Given the description of an element on the screen output the (x, y) to click on. 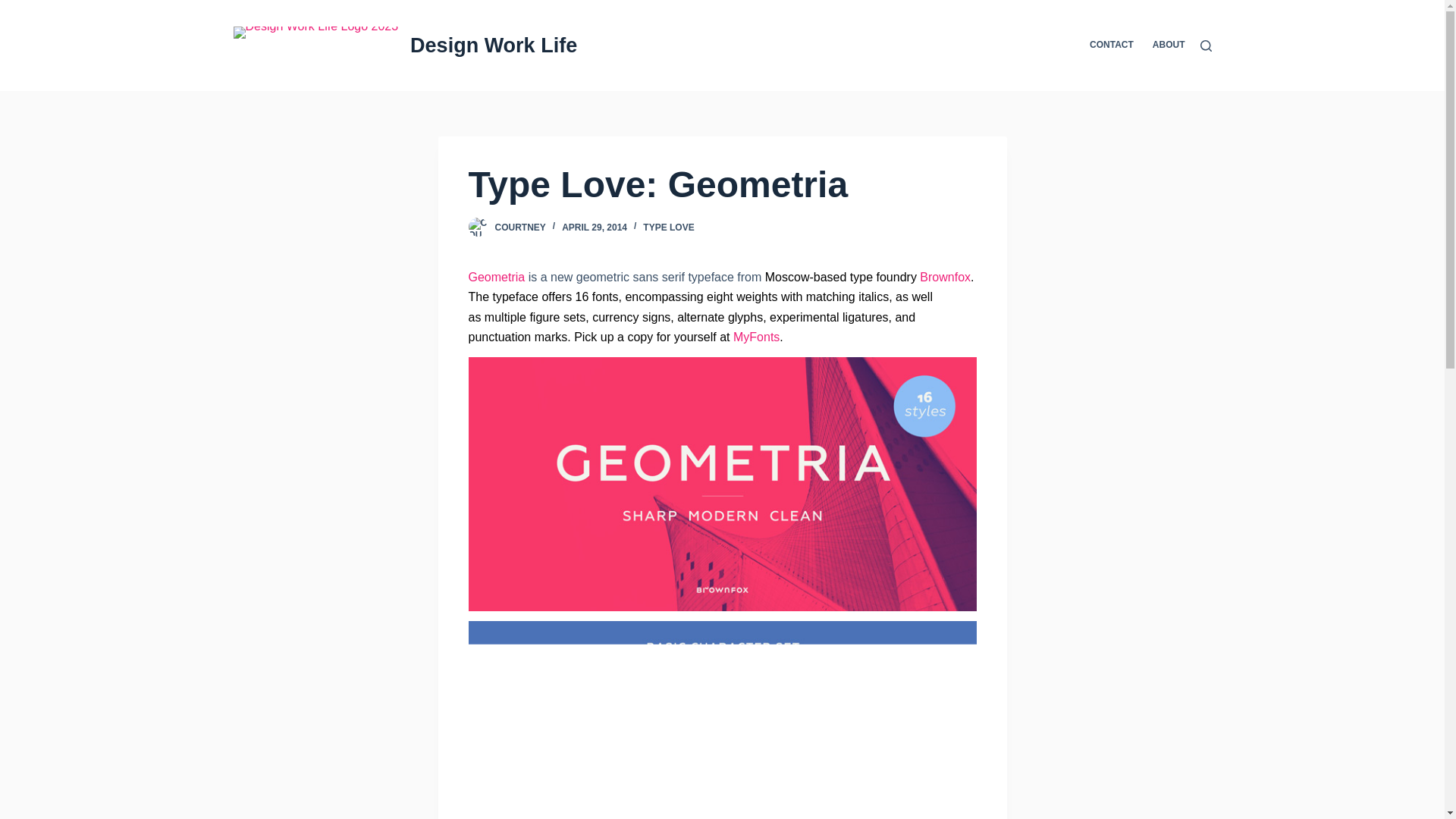
TYPE LOVE (668, 226)
Posts by Courtney (519, 226)
Geometria (496, 277)
Skip to content (15, 7)
Design Work Life (493, 45)
MyFonts (755, 336)
Brownfox (945, 277)
COURTNEY (519, 226)
Type Love: Geometria (722, 185)
